Given the description of an element on the screen output the (x, y) to click on. 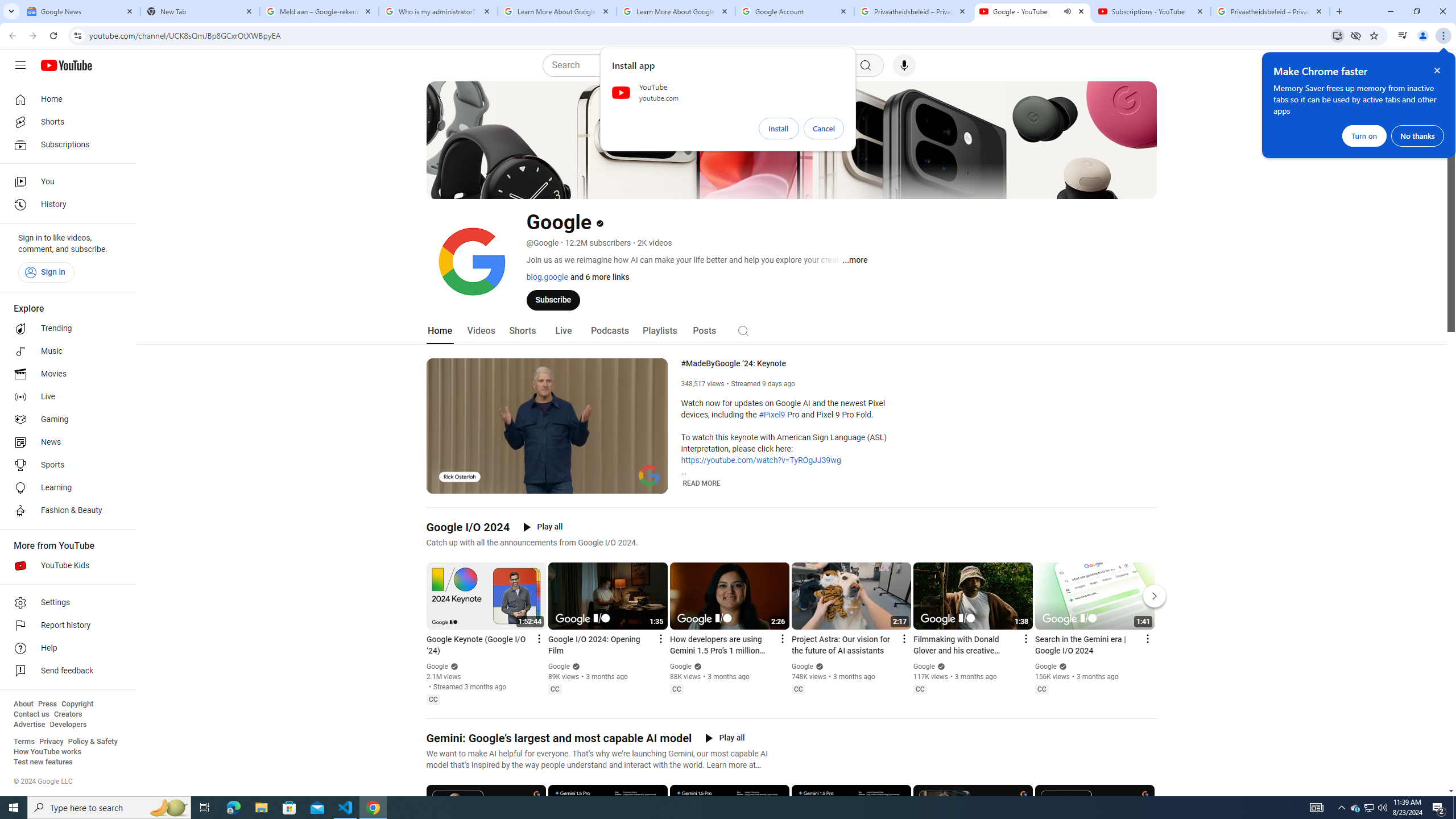
Play all (724, 738)
Copyright (77, 703)
Live (64, 396)
Report history (64, 625)
Creators (67, 714)
https://youtube.com/watch?v=TyROgJJ39wg (761, 460)
blog.google (546, 276)
